Given the description of an element on the screen output the (x, y) to click on. 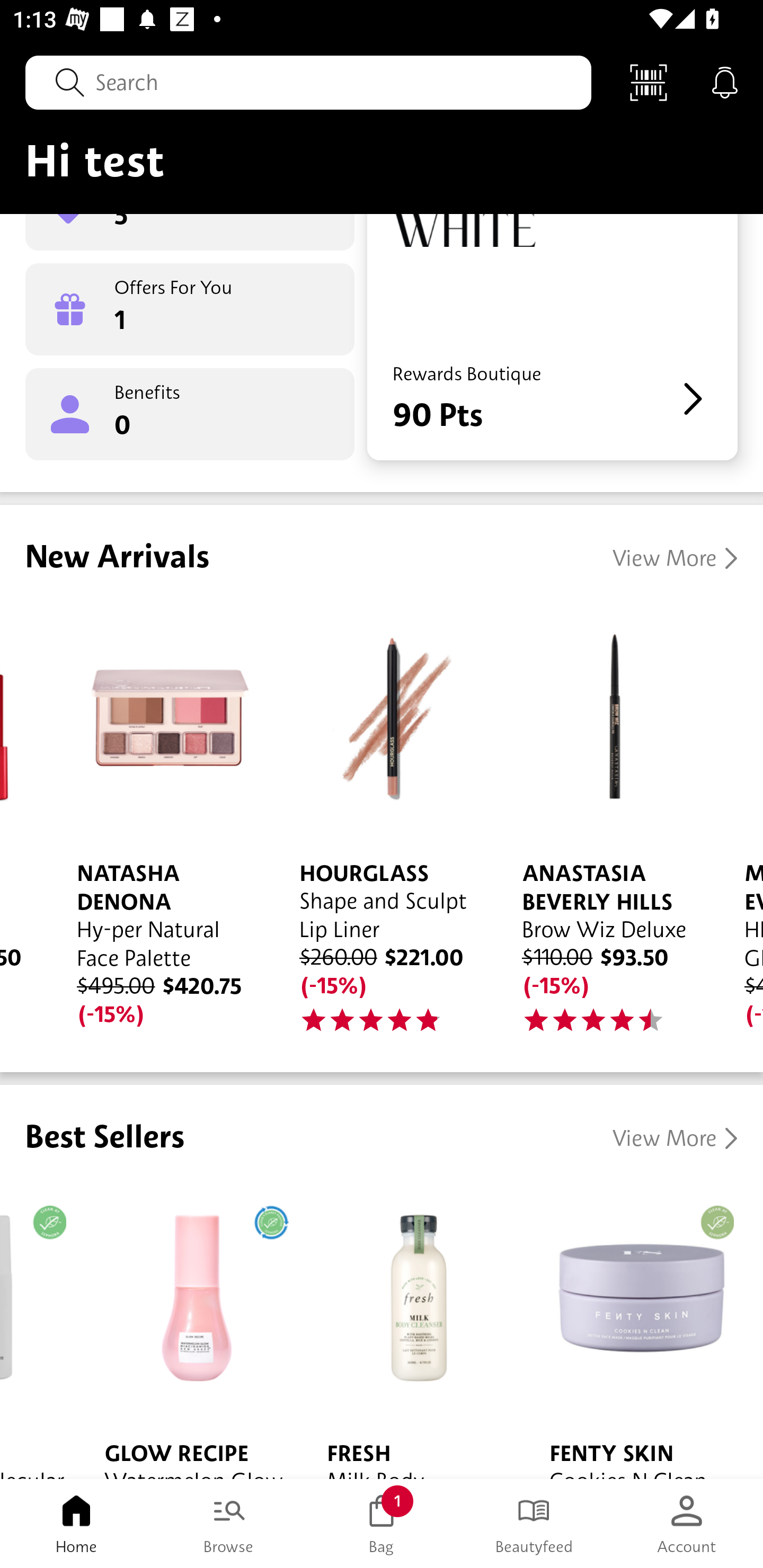
Scan Code (648, 81)
Notifications (724, 81)
Search (308, 81)
Rewards Boutique 90 Pts (552, 336)
Offers For You 1 (189, 309)
Benefits 0 (189, 414)
View More (674, 558)
View More (674, 1138)
FRESH Milk Body Cleanser (412, 1330)
Browse (228, 1523)
Bag 1 Bag (381, 1523)
Beautyfeed (533, 1523)
Account (686, 1523)
